Given the description of an element on the screen output the (x, y) to click on. 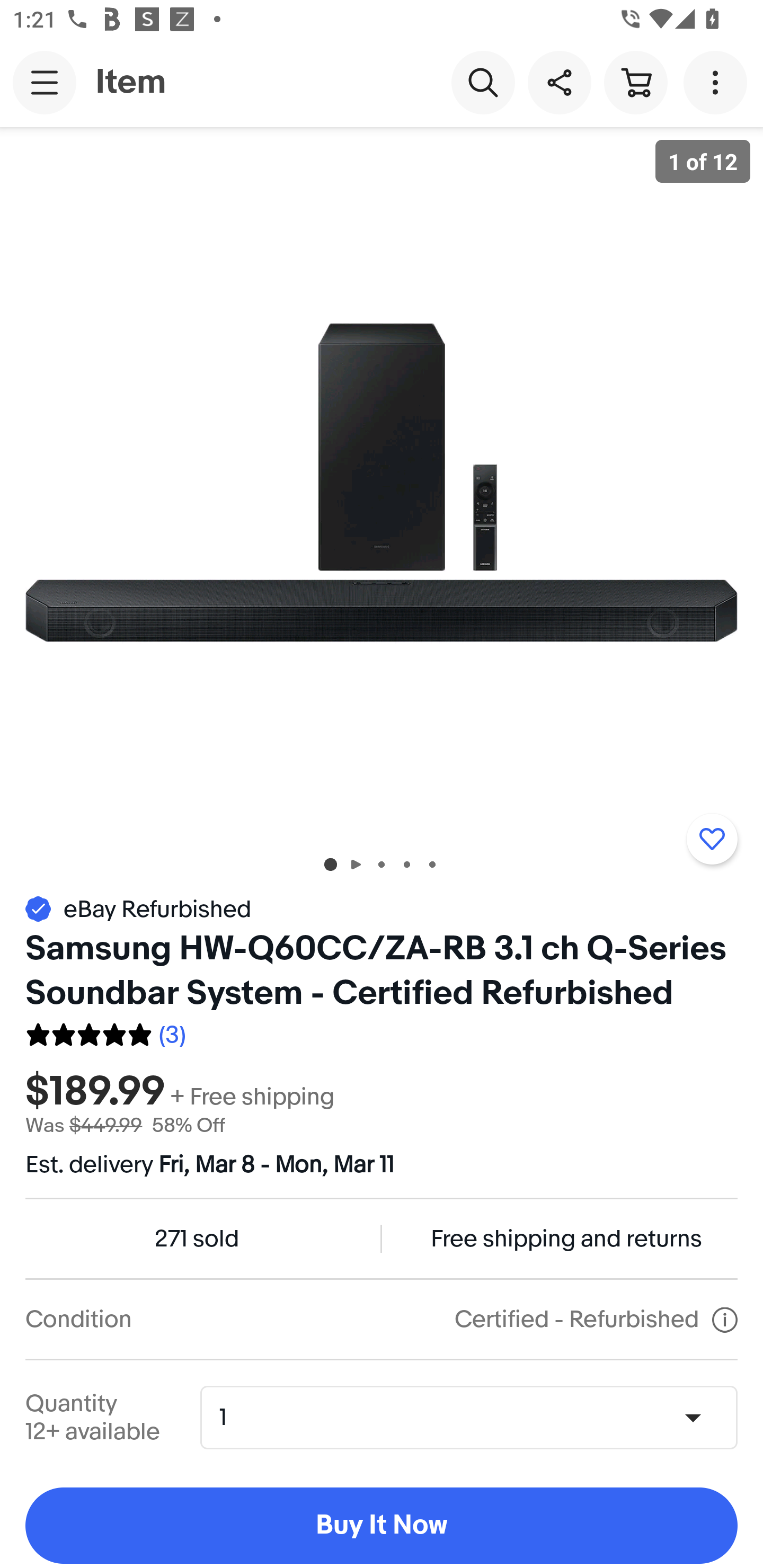
Main navigation, open (44, 82)
Search (482, 81)
Share this item (559, 81)
Cart button shopping cart (635, 81)
More options (718, 81)
Item image 1 of 12 (381, 482)
Add to watchlist (711, 838)
3 reviews. Average rating 5.0 out of five 10.0 (3) (105, 1031)
Quantity,1,12+ available 1 (474, 1417)
Buy It Now (381, 1525)
